Given the description of an element on the screen output the (x, y) to click on. 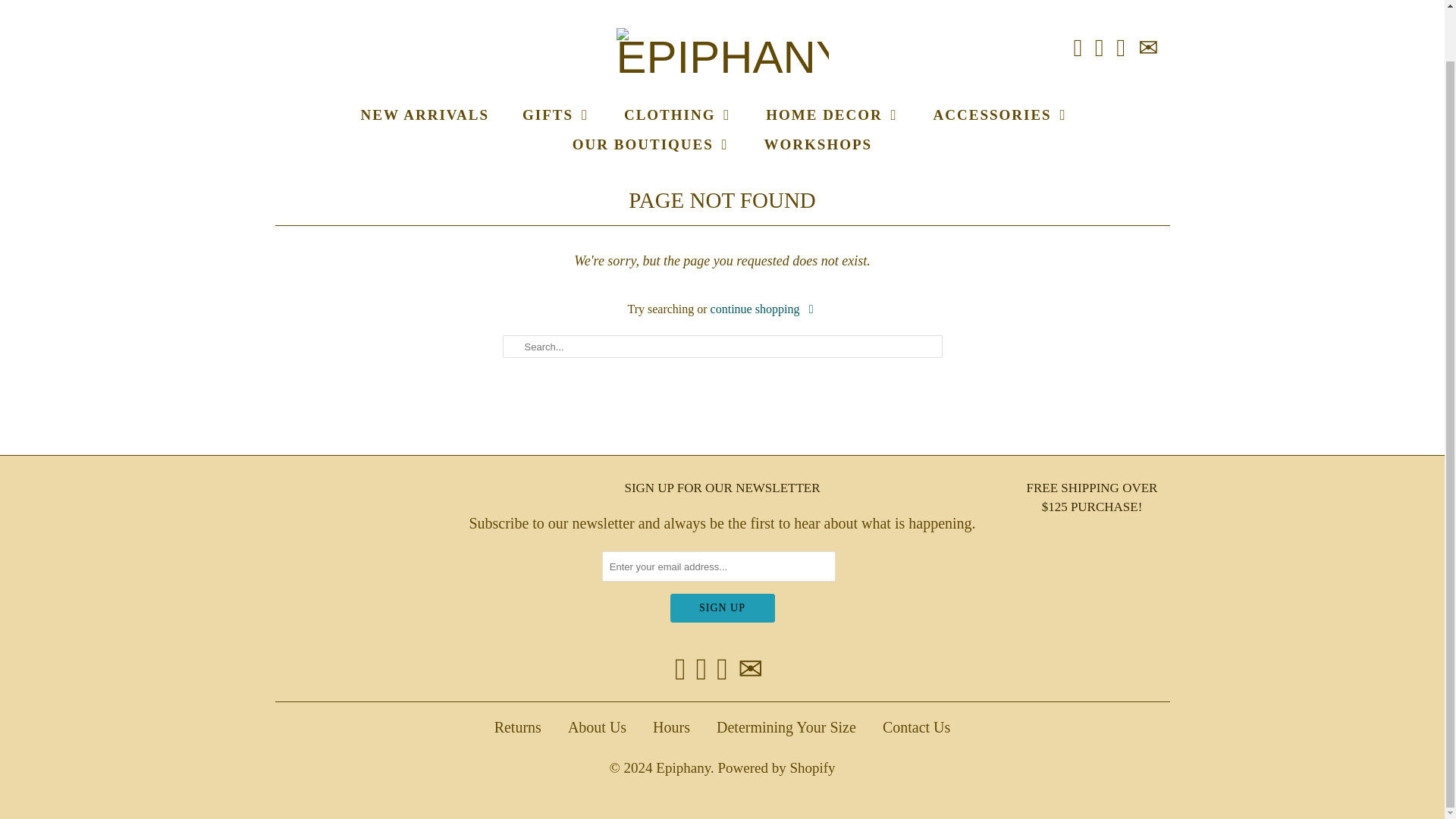
ACCESSORIES (1000, 115)
Epiphany (721, 50)
Sign Up (721, 607)
GIFTS (556, 115)
CLOTHING (678, 115)
NEW ARRIVALS (425, 115)
OUR BOUTIQUES (651, 144)
HOME DECOR (832, 115)
Email Epiphany (750, 669)
